Given the description of an element on the screen output the (x, y) to click on. 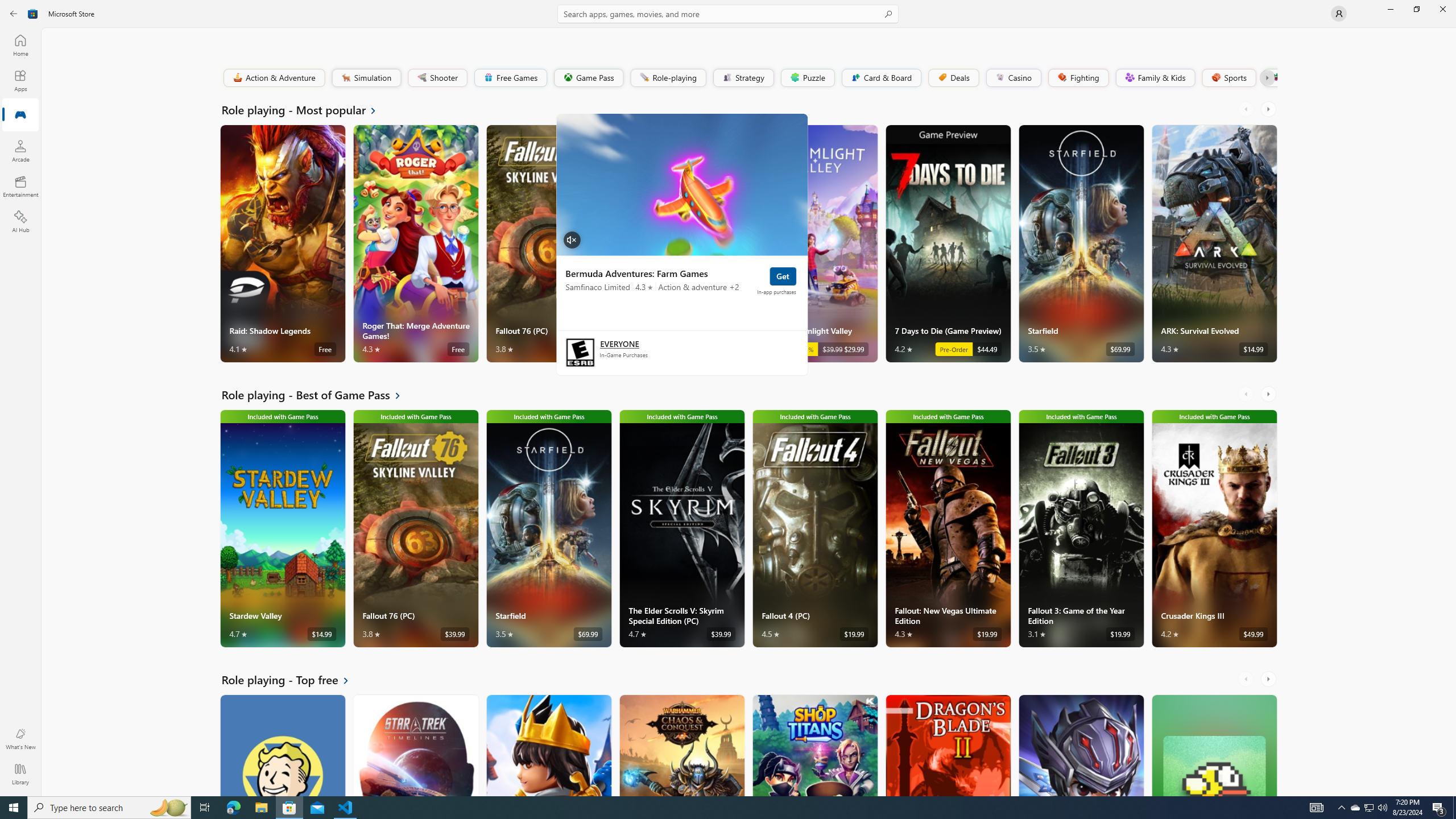
Arcade (20, 150)
Back (13, 13)
Home (20, 45)
AutomationID: NavigationControl (728, 398)
Class: Image (1274, 76)
See all  Role playing - Best of Game Pass (317, 394)
See all  Role playing - Most popular (305, 109)
Starfield. Average rating of 3.5 out of five stars. $69.99   (1080, 243)
Simulation (365, 77)
